Given the description of an element on the screen output the (x, y) to click on. 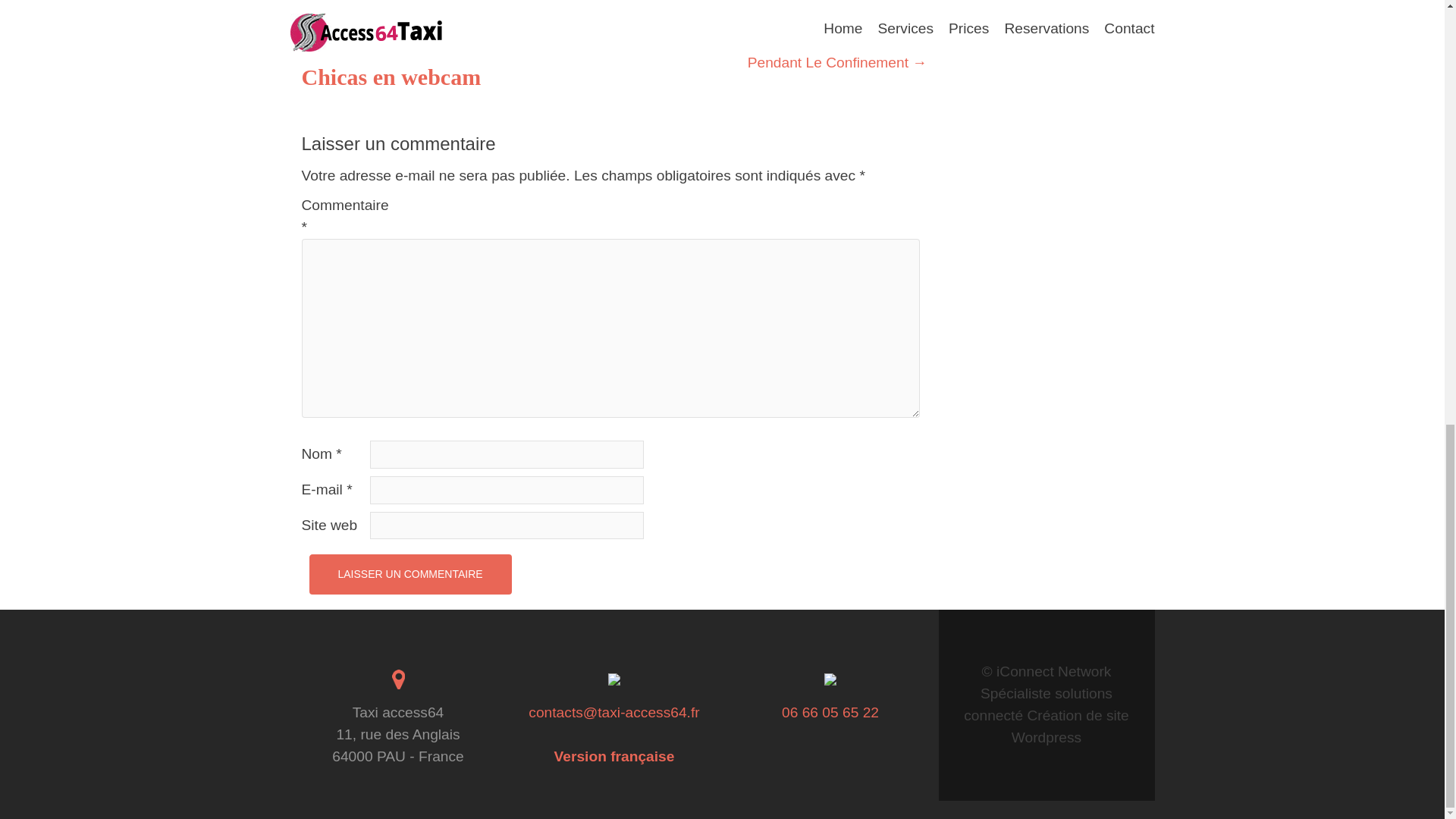
Laisser un commentaire (410, 574)
Laisser un commentaire (410, 574)
06 66 05 65 22 (830, 712)
